Given the description of an element on the screen output the (x, y) to click on. 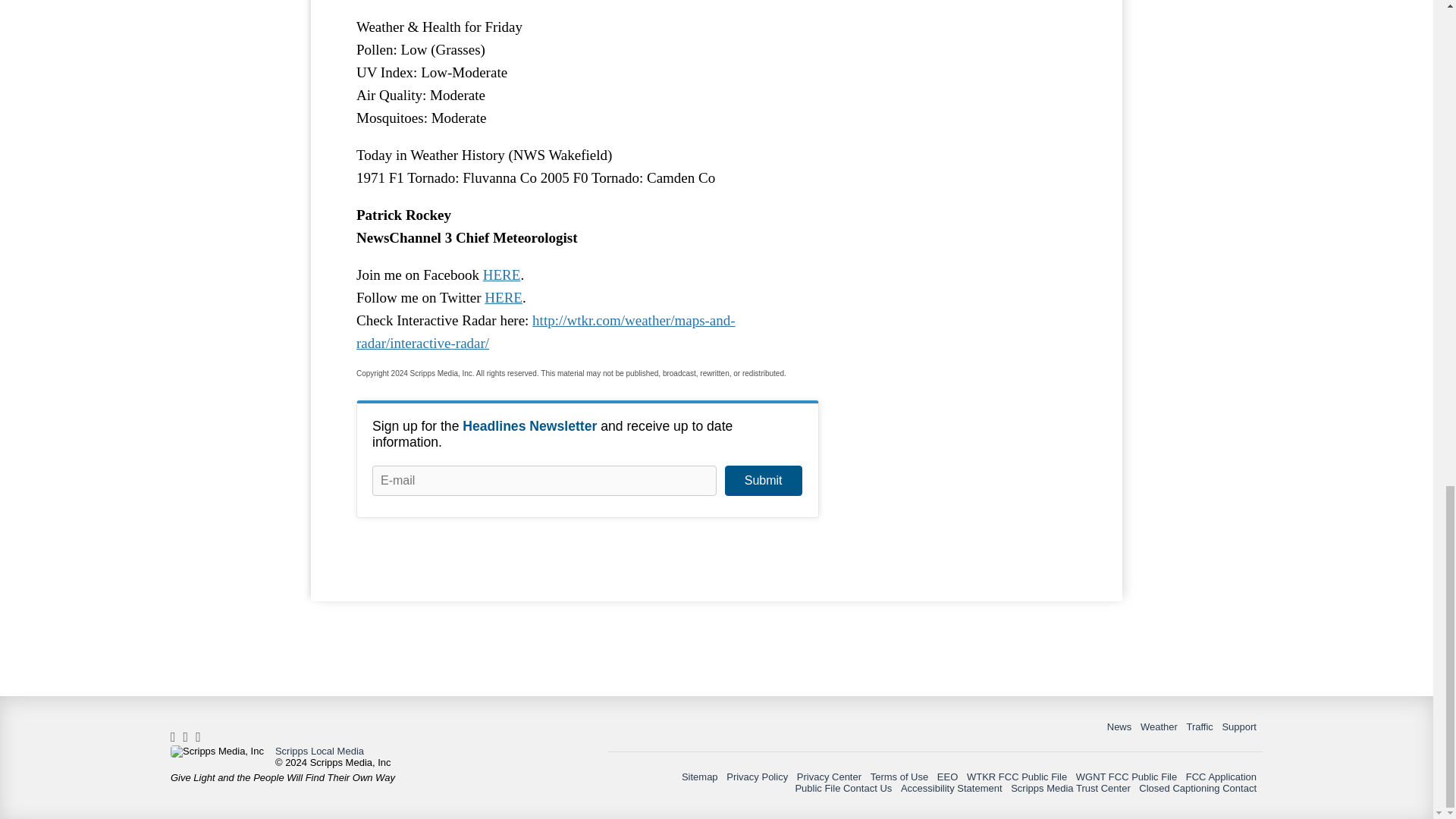
Submit (763, 481)
Join me on Facebook (502, 274)
Follow me on Twitter (503, 297)
